Given the description of an element on the screen output the (x, y) to click on. 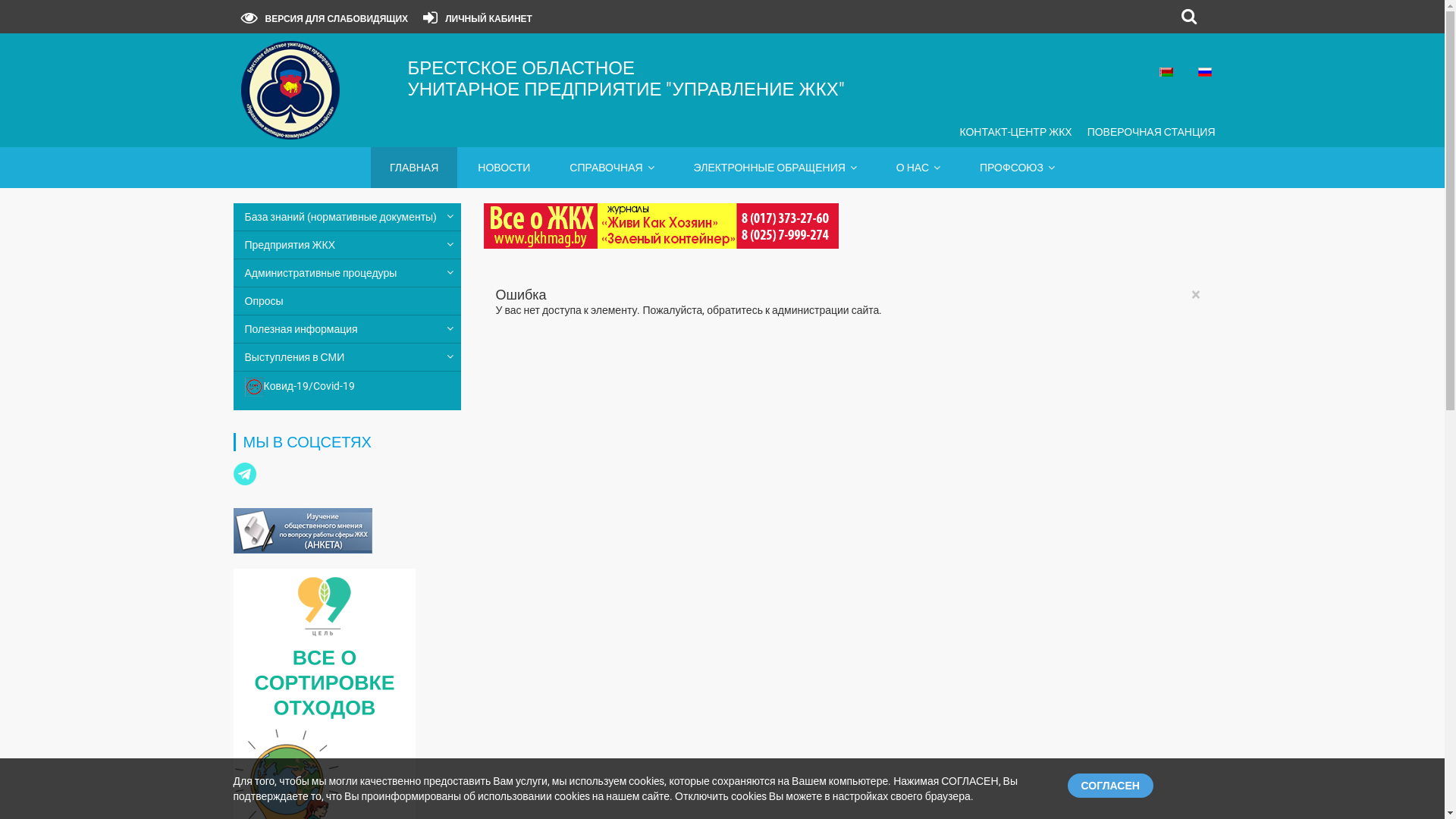
Russian (Russia) Element type: hover (1204, 71)
